Given the description of an element on the screen output the (x, y) to click on. 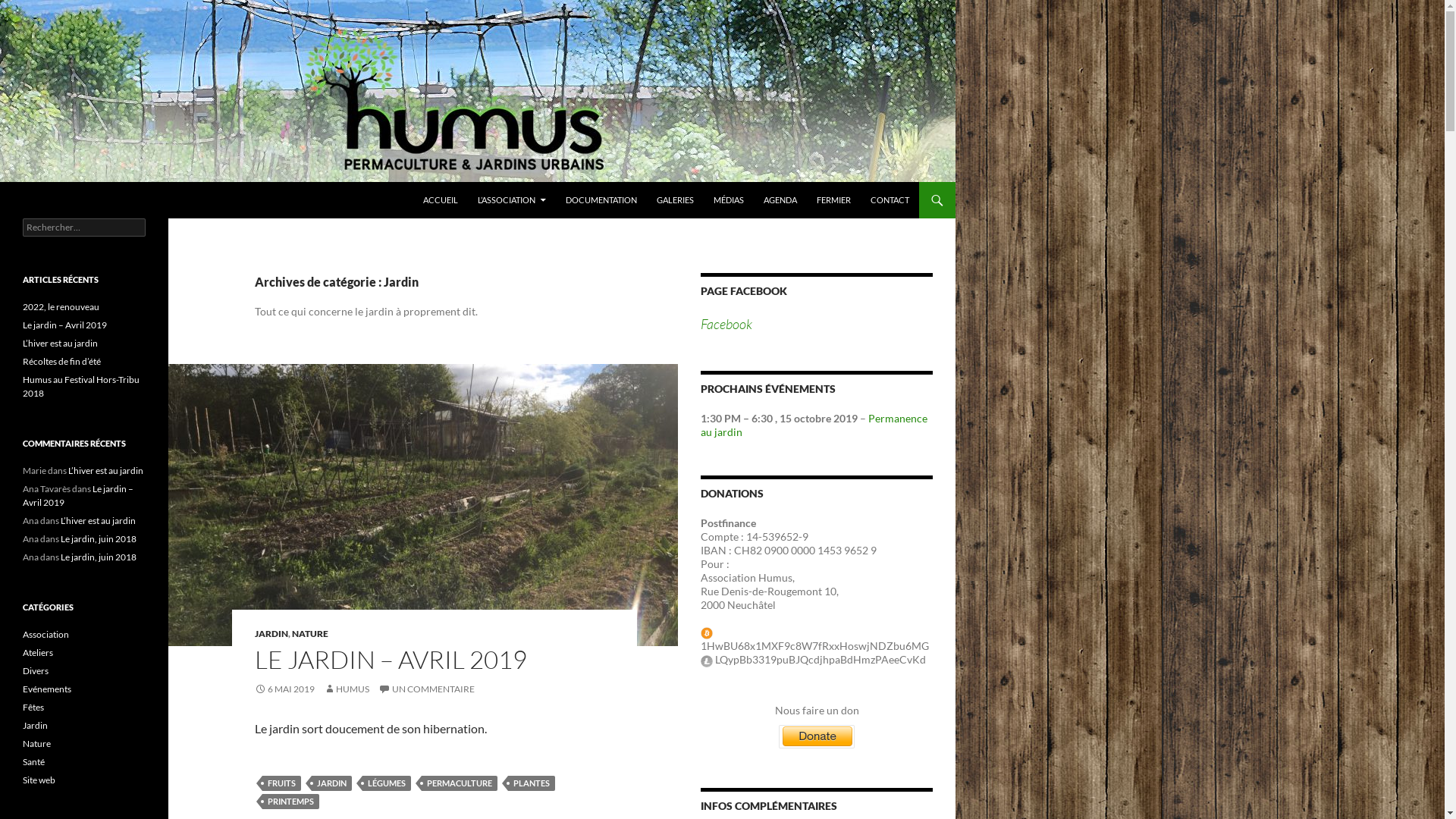
Ateliers Element type: text (37, 652)
Permanence au jardin Element type: text (813, 424)
Site web Element type: text (38, 779)
Humus au Festival Hors-Tribu 2018 Element type: text (80, 385)
JARDIN Element type: text (271, 633)
ALLER AU CONTENU Element type: text (422, 181)
6 MAI 2019 Element type: text (284, 688)
Nature Element type: text (36, 743)
2022, le renouveau Element type: text (60, 306)
Facebook Element type: text (726, 323)
HUMUS Element type: text (346, 688)
Jardin Element type: text (34, 725)
ACCUEIL Element type: text (440, 200)
PLANTES Element type: text (531, 782)
NATURE Element type: text (309, 633)
AGENDA Element type: text (780, 200)
Recherche Element type: text (3, 181)
PRINTEMPS Element type: text (290, 801)
Humus Element type: text (43, 200)
Rechercher Element type: text (41, 9)
JARDIN Element type: text (331, 782)
FRUITS Element type: text (281, 782)
Le jardin, juin 2018 Element type: text (98, 556)
Le jardin, juin 2018 Element type: text (98, 538)
Association Element type: text (45, 634)
PERMACULTURE Element type: text (459, 782)
FERMIER Element type: text (833, 200)
DOCUMENTATION Element type: text (601, 200)
UN COMMENTAIRE Element type: text (426, 688)
Divers Element type: text (35, 670)
GALERIES Element type: text (674, 200)
CONTACT Element type: text (889, 200)
